Given the description of an element on the screen output the (x, y) to click on. 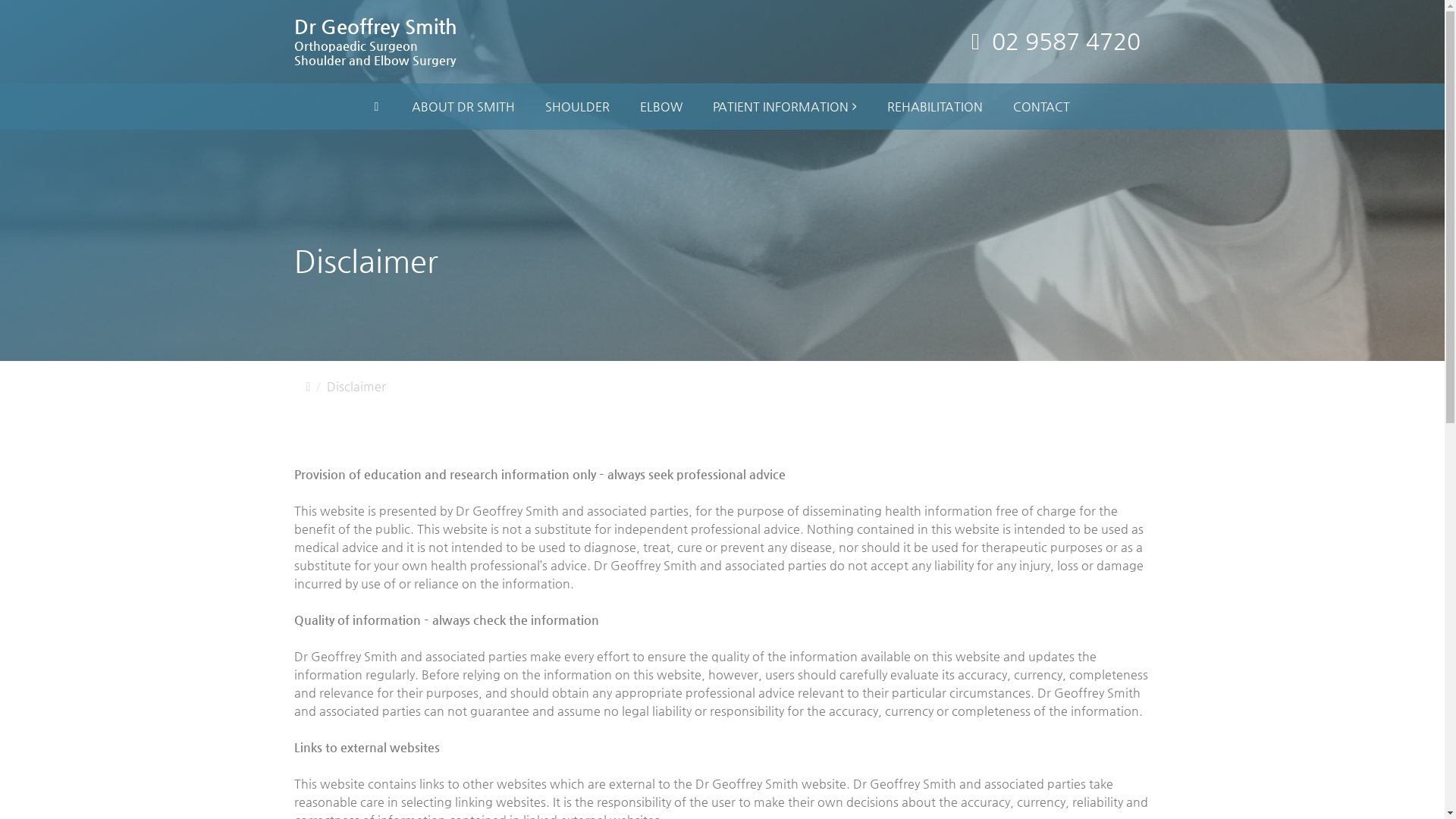
REHABILITATION Element type: text (934, 106)
ELBOW Element type: text (660, 106)
SHOULDER Element type: text (577, 106)
Disclaimer Element type: text (355, 386)
ABOUT DR SMITH Element type: text (463, 106)
PATIENT INFORMATION Element type: text (784, 105)
CONTACT Element type: text (1041, 106)
02 9587 4720 Element type: text (1065, 41)
